Given the description of an element on the screen output the (x, y) to click on. 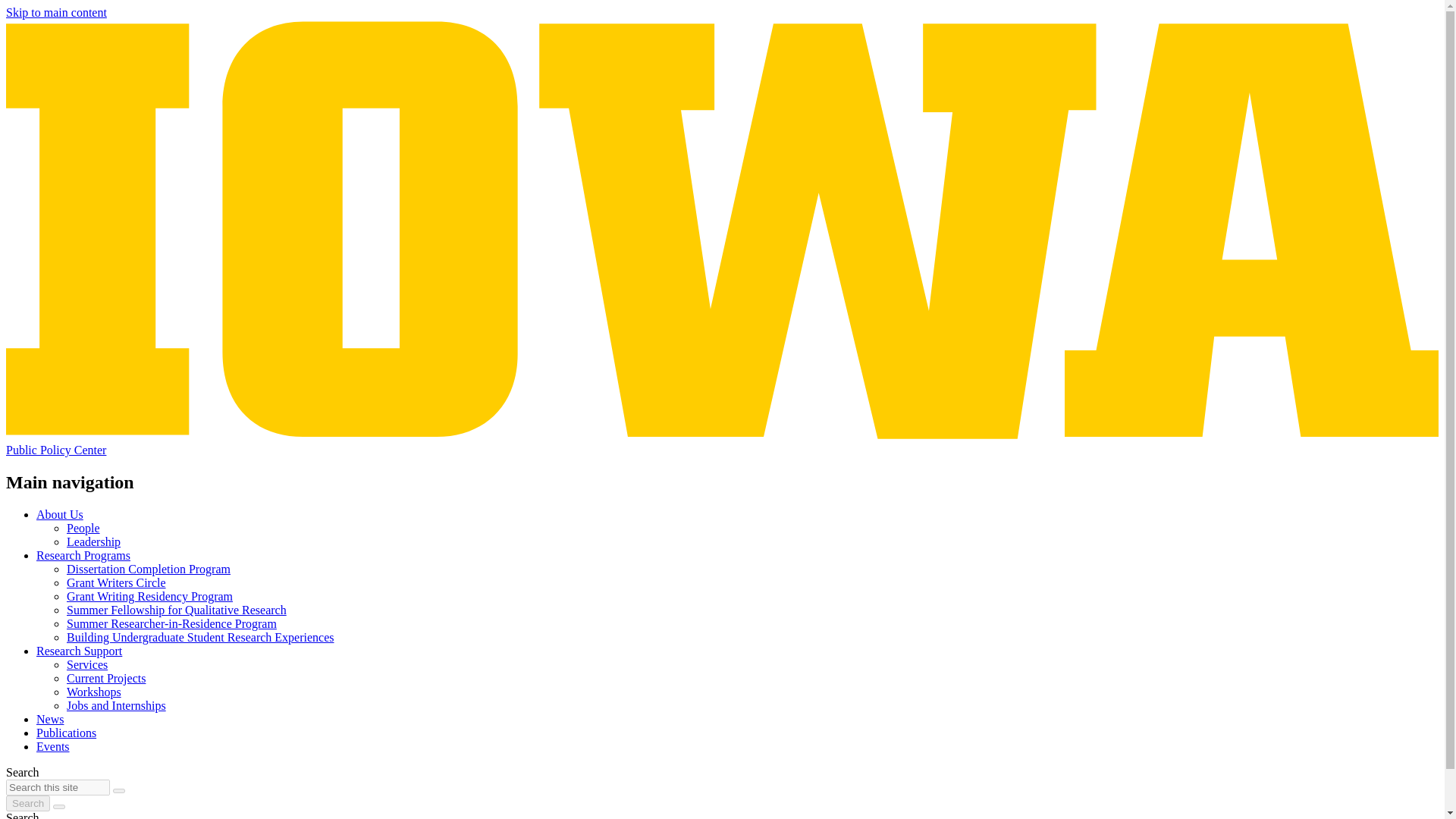
Leadership (93, 541)
Publications (66, 732)
Workshops (93, 691)
Dissertation Completion Program (148, 568)
Summer Researcher-in-Residence Program (171, 623)
Events (52, 746)
Search (27, 803)
About Us (59, 513)
Public Policy Center (55, 449)
Grant Writers Circle (115, 582)
